Given the description of an element on the screen output the (x, y) to click on. 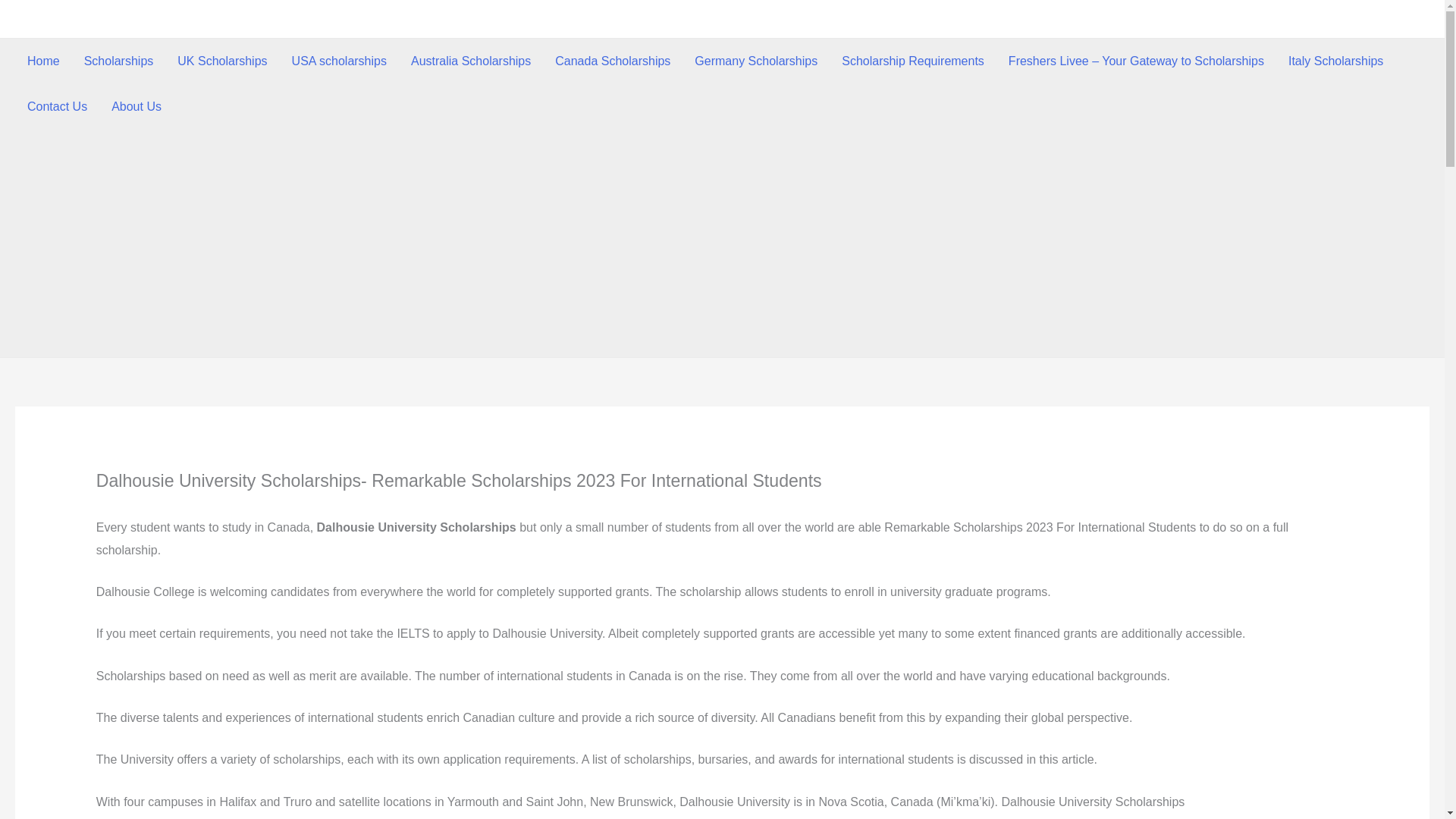
Scholarships (118, 61)
UK Scholarships (222, 61)
Scholarship Requirements (912, 61)
Germany Scholarships (755, 61)
Home (42, 61)
About Us (136, 106)
Australia Scholarships (470, 61)
USA scholarships (338, 61)
Canada Scholarships (612, 61)
Contact Us (56, 106)
Italy Scholarships (1335, 61)
